Given the description of an element on the screen output the (x, y) to click on. 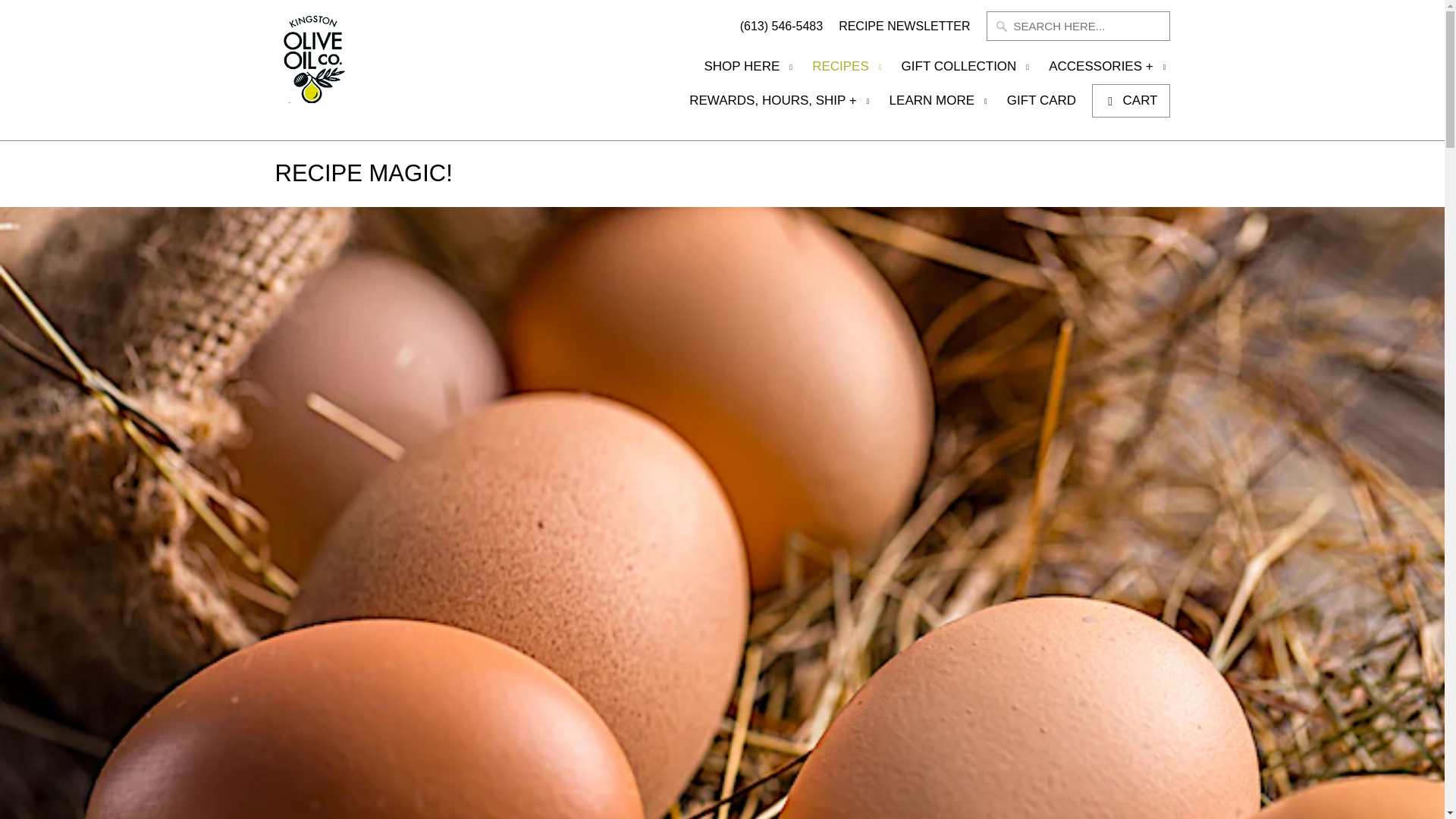
SHOP HERE (749, 71)
Cart (1130, 100)
RECIPE NEWSLETTER (903, 30)
RECIPE MAGIC! (363, 172)
KINGSTON OLIVE OIL COMPANY (344, 69)
RECIPES (848, 71)
